Given the description of an element on the screen output the (x, y) to click on. 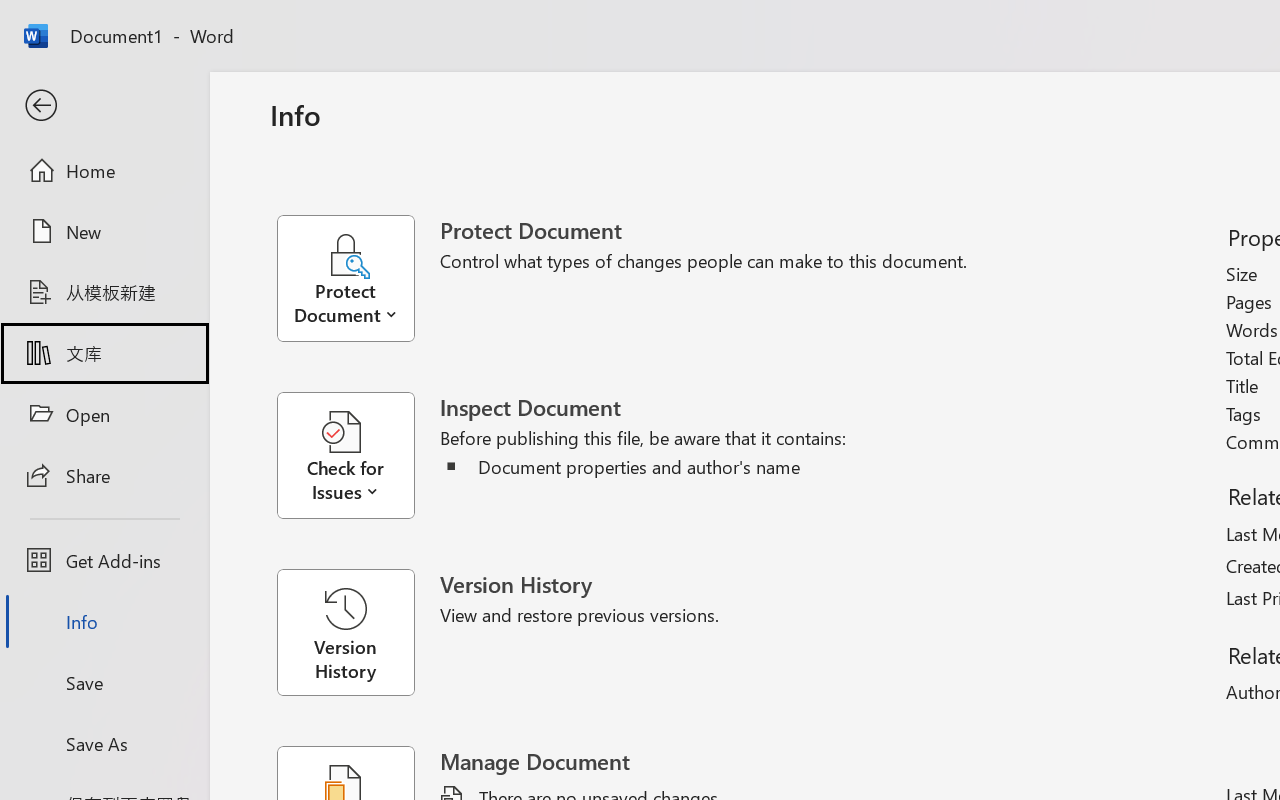
Get Add-ins (104, 560)
Version History (345, 632)
Check for Issues (358, 455)
Info (104, 621)
Save As (104, 743)
Back (104, 106)
New (104, 231)
